Given the description of an element on the screen output the (x, y) to click on. 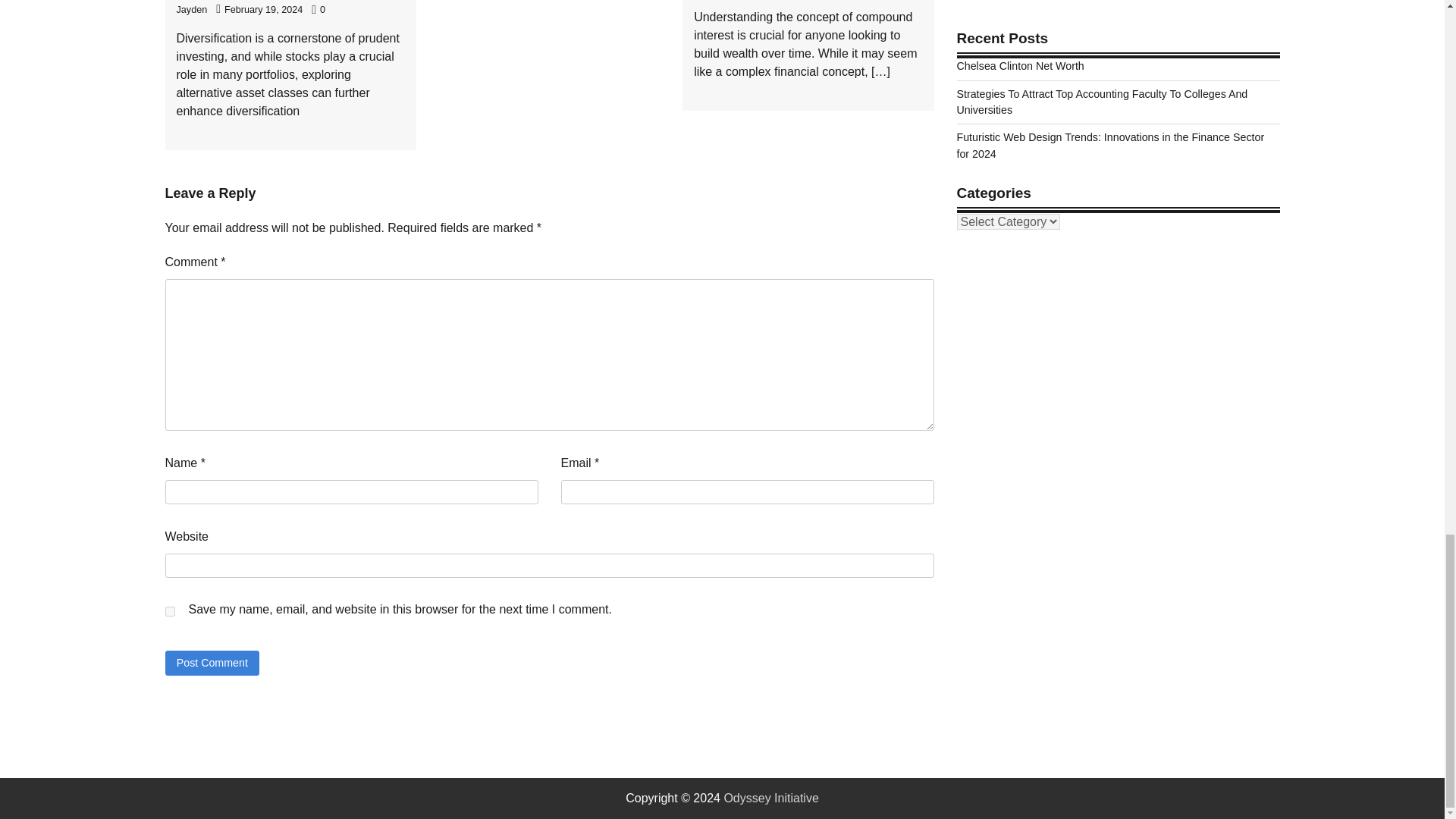
yes (169, 611)
Odyssey Initiative (770, 797)
Post Comment (212, 662)
Jayden (191, 9)
Post Comment (212, 662)
